Given the description of an element on the screen output the (x, y) to click on. 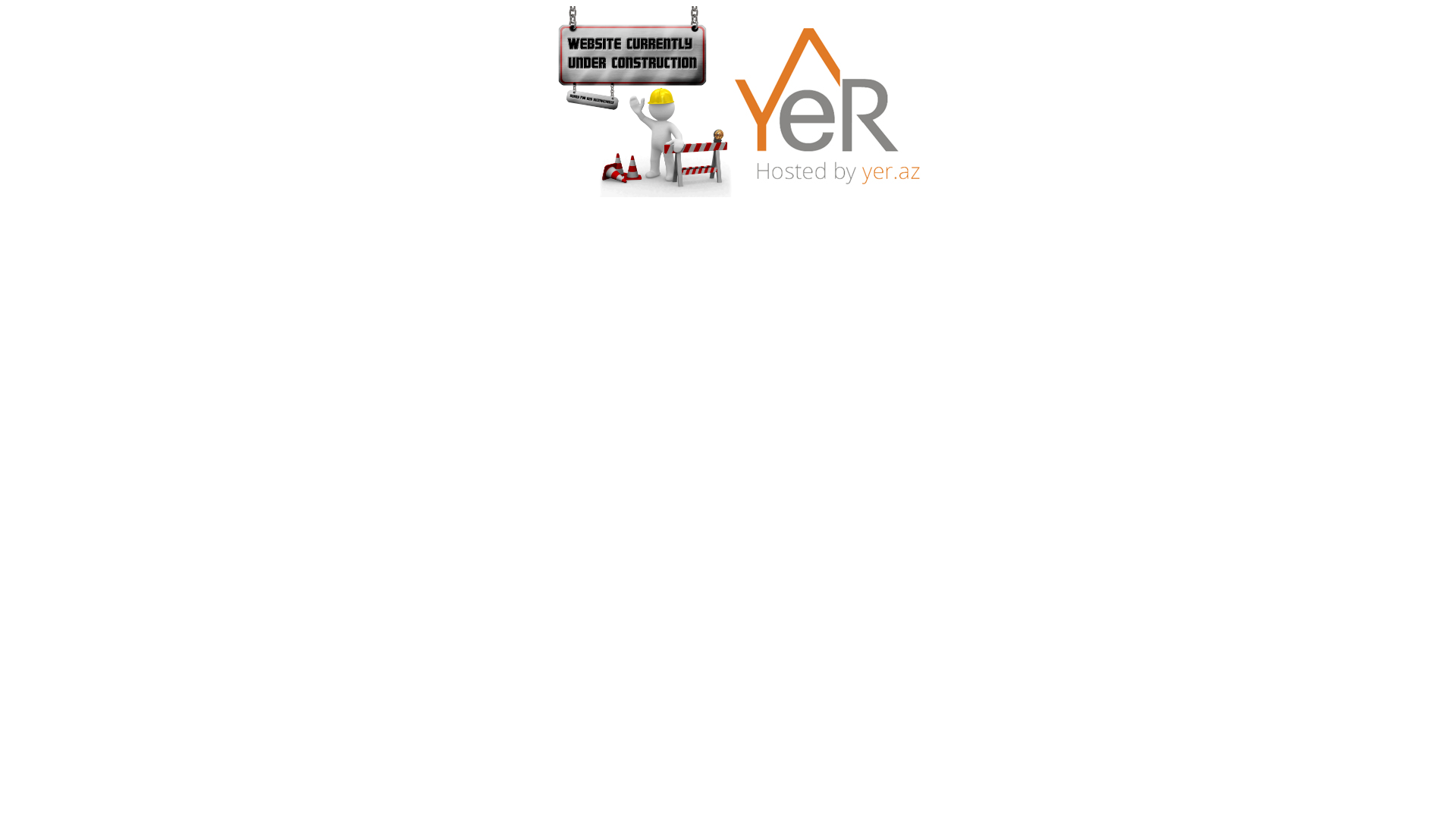
YER Hostinq Element type: hover (827, 102)
